Given the description of an element on the screen output the (x, y) to click on. 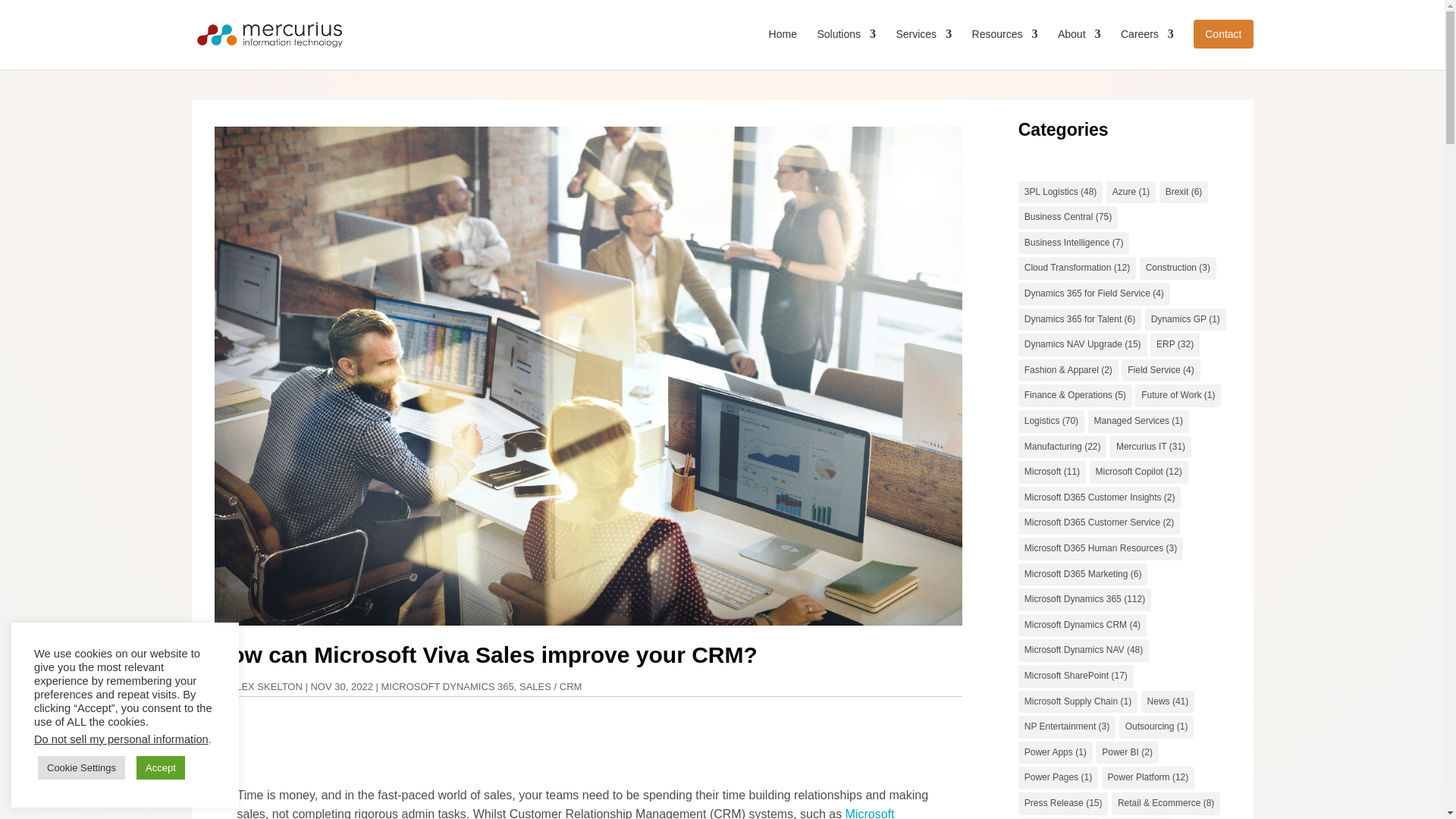
Services (923, 46)
Posts by Alex Skelton (266, 686)
Solutions (846, 46)
